Given the description of an element on the screen output the (x, y) to click on. 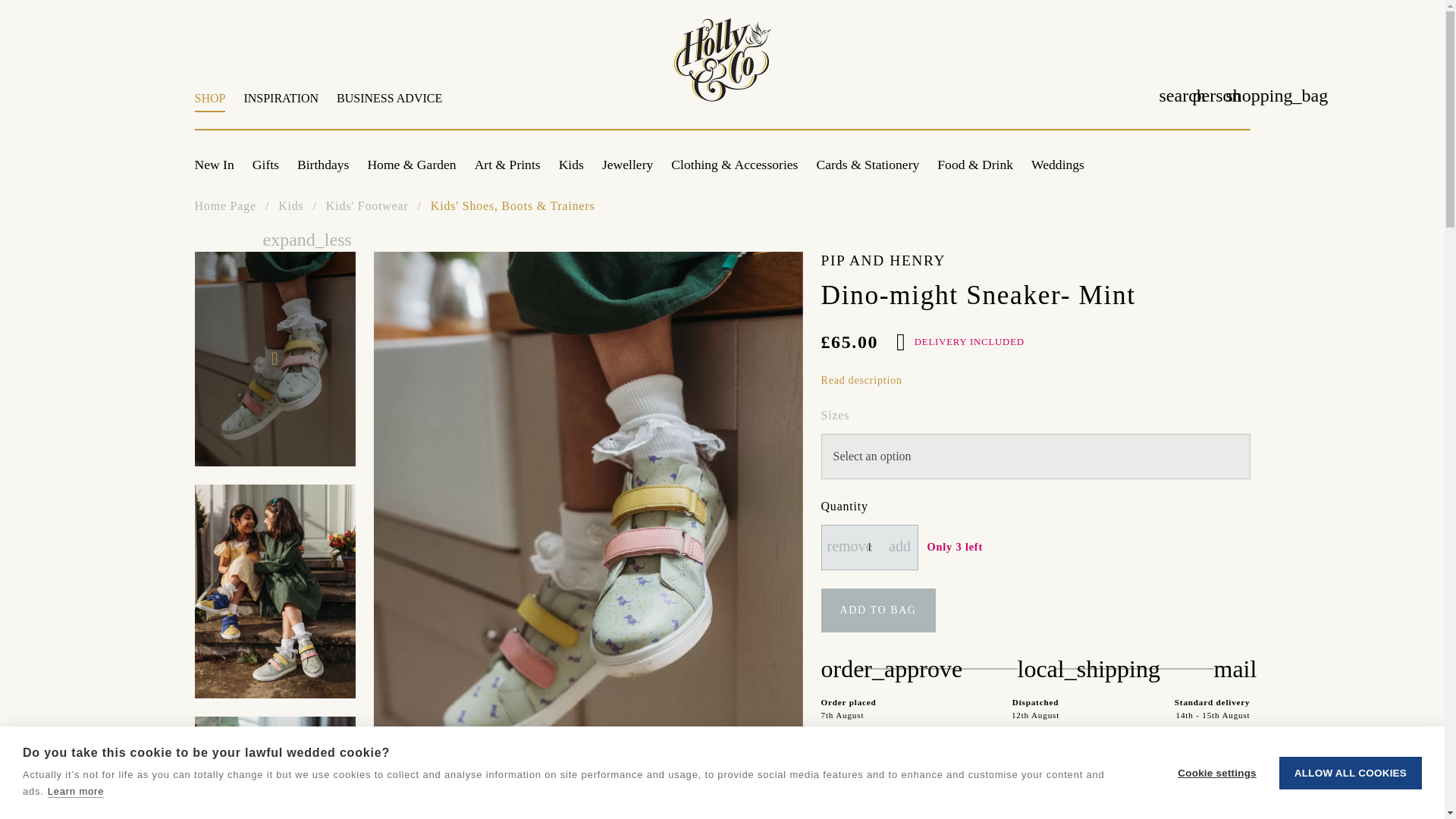
1 (869, 547)
BUSINESS ADVICE (384, 106)
INSPIRATION (280, 106)
